Given the description of an element on the screen output the (x, y) to click on. 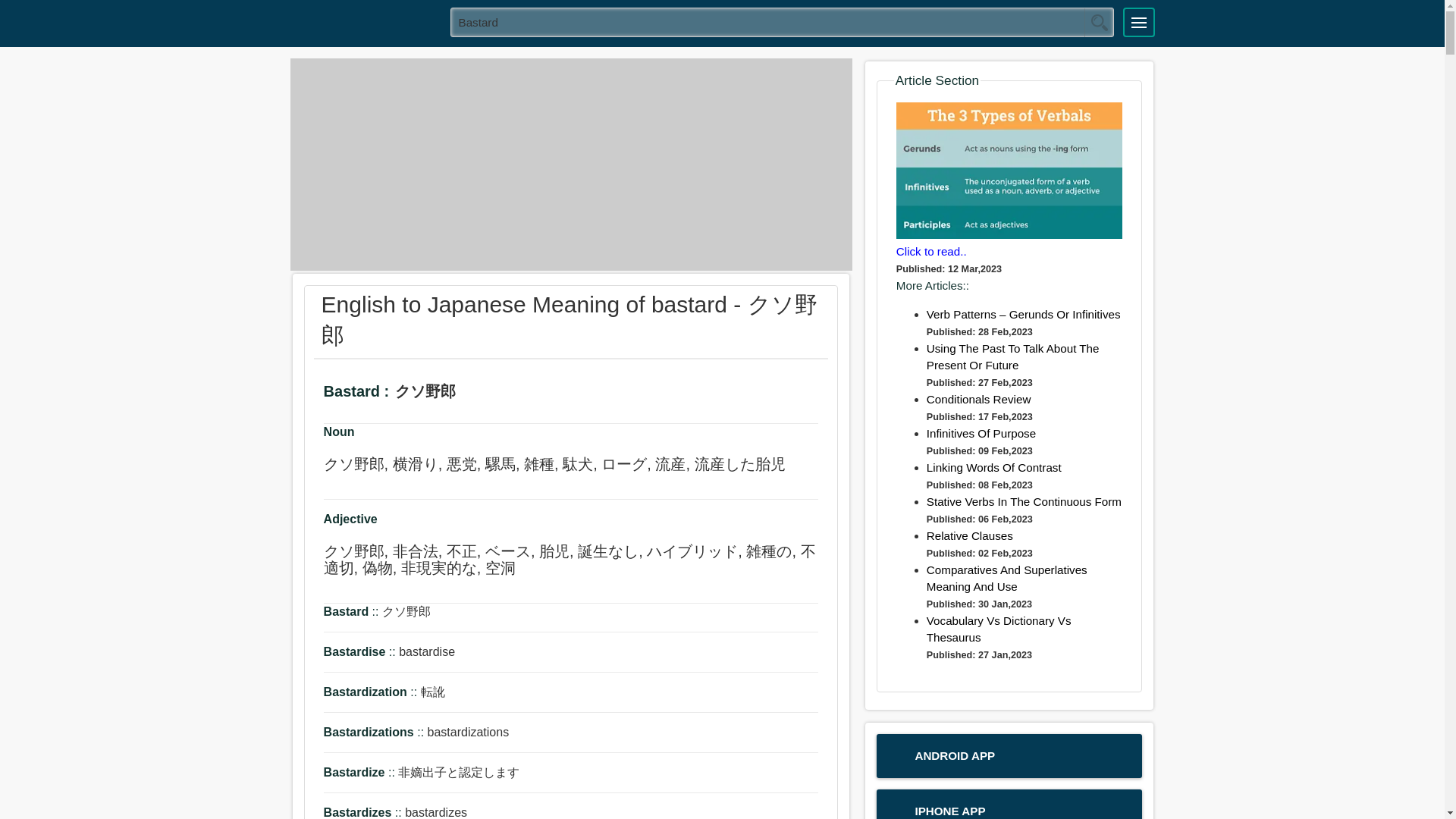
Say The Word (481, 393)
JAPANESE (365, 20)
Advertisement (570, 164)
Add To Favorites (524, 393)
Search (1098, 22)
bastard (782, 21)
